Given the description of an element on the screen output the (x, y) to click on. 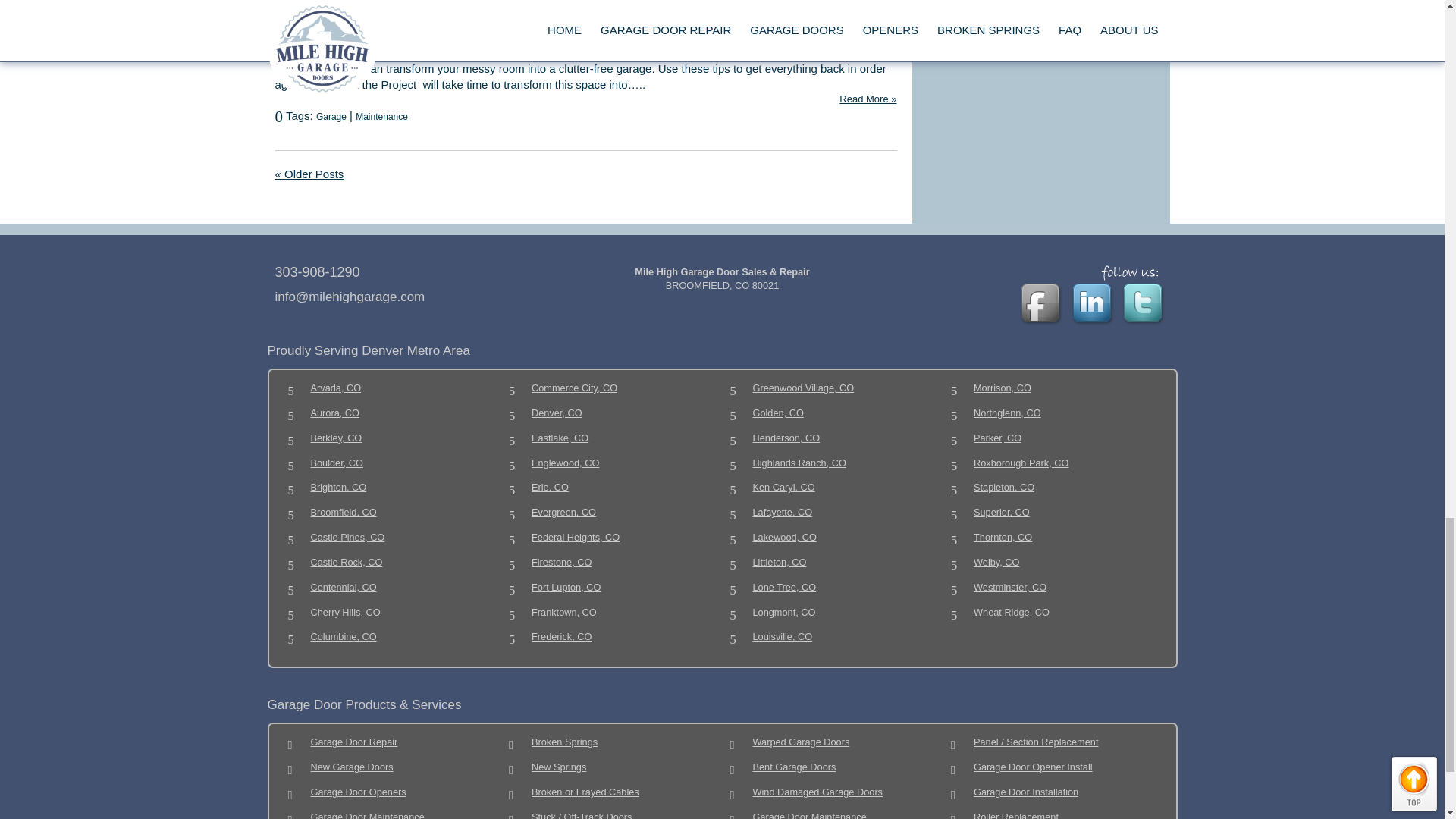
Permalink to Keys To a Clutter Free Garage (398, 23)
Follow Us on Facebook (1042, 304)
Follow Us on Twitter (1145, 304)
Follow Us on Social Media Sites (1133, 272)
Follow Us on Linedin (1094, 304)
